Given the description of an element on the screen output the (x, y) to click on. 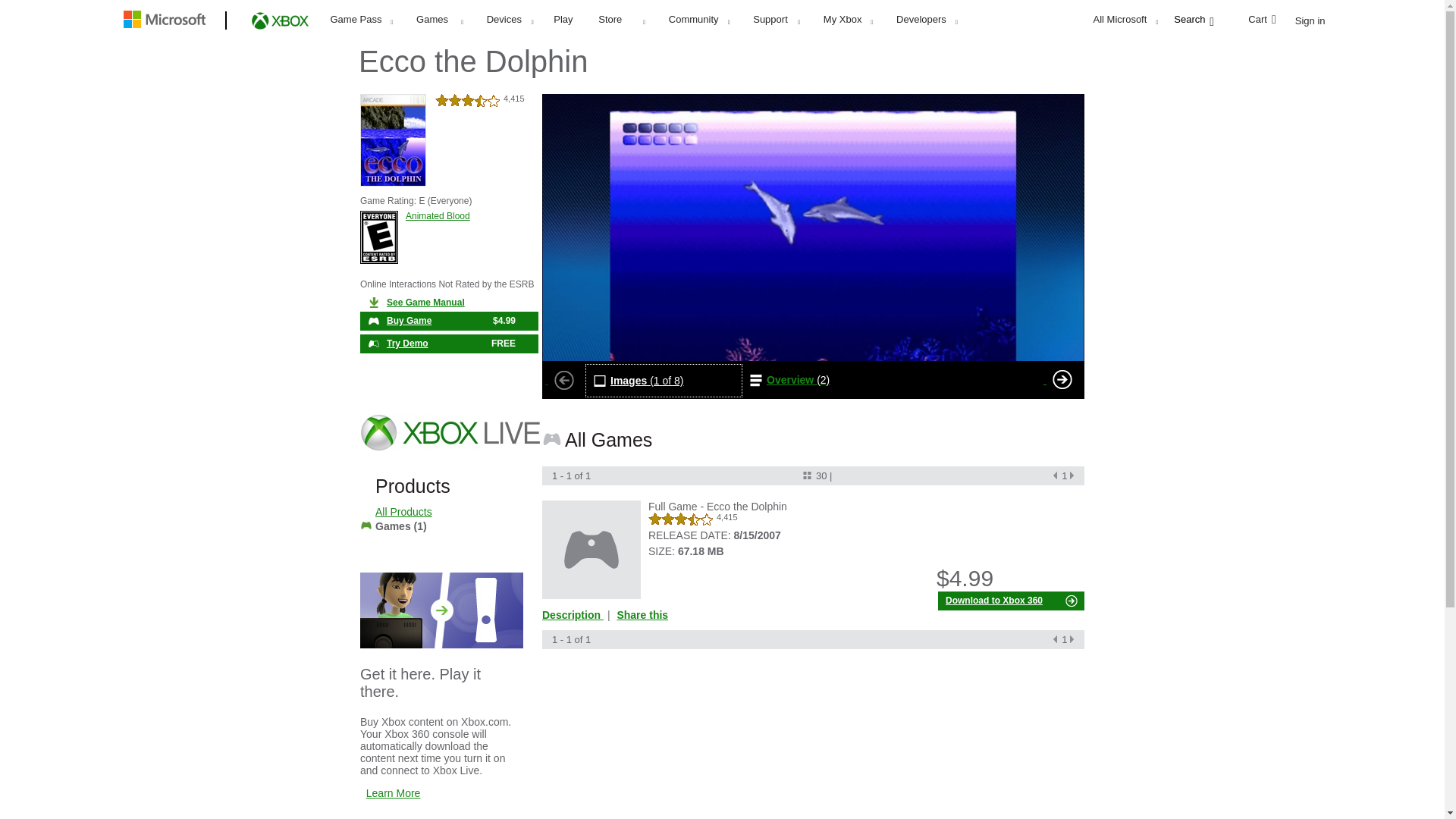
Game Pass (360, 18)
Microsoft (167, 20)
Next (1062, 379)
Previous (563, 379)
Share this - Full Game - Ecco the Dolphin (641, 614)
Description - Full Game - Ecco the Dolphin (574, 614)
Games (439, 18)
All Products (403, 511)
Xbox Live Logo (448, 436)
Game (590, 549)
Devices (510, 18)
Learn More (393, 793)
